Given the description of an element on the screen output the (x, y) to click on. 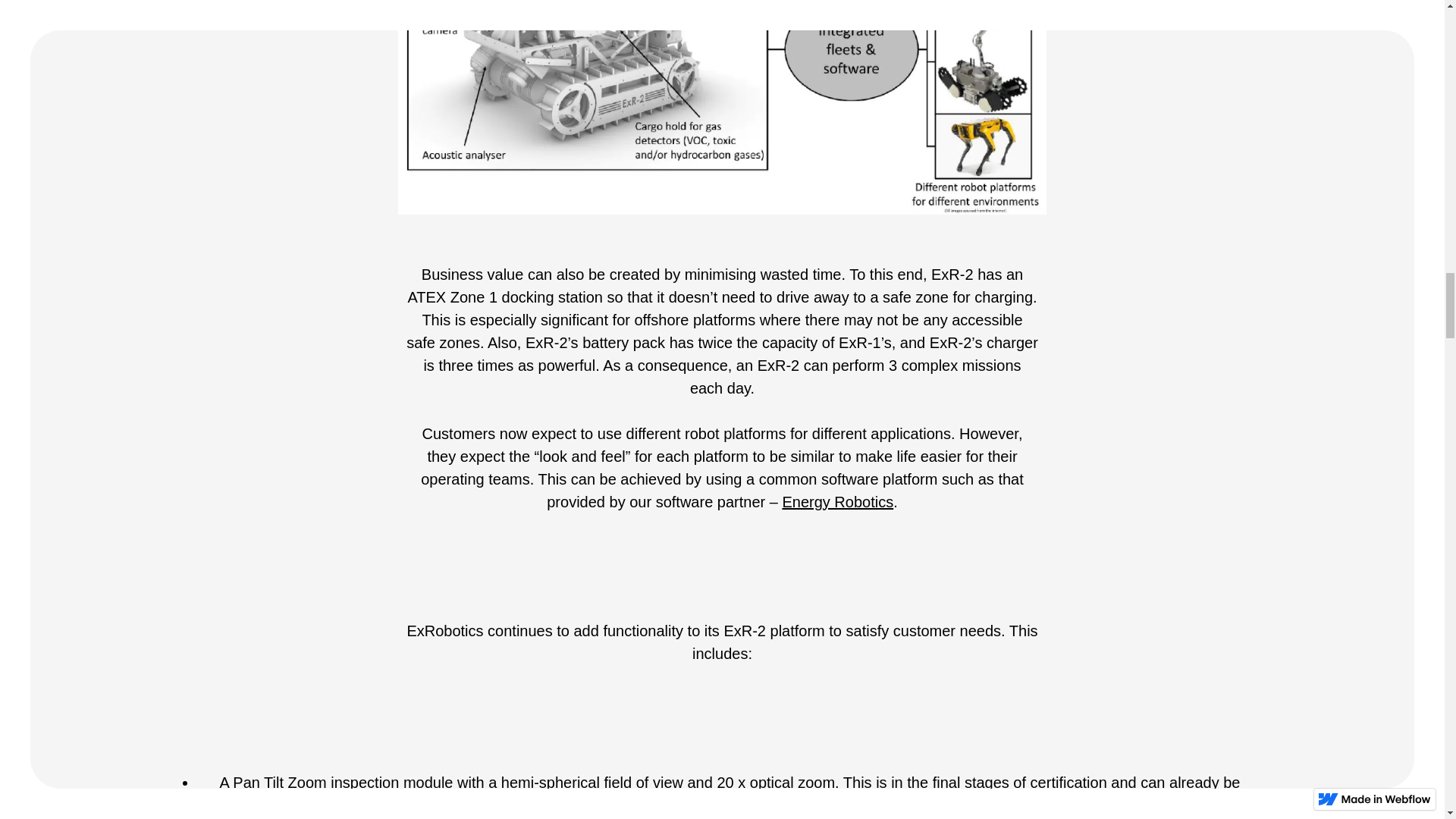
Energy Robotics (837, 501)
